Given the description of an element on the screen output the (x, y) to click on. 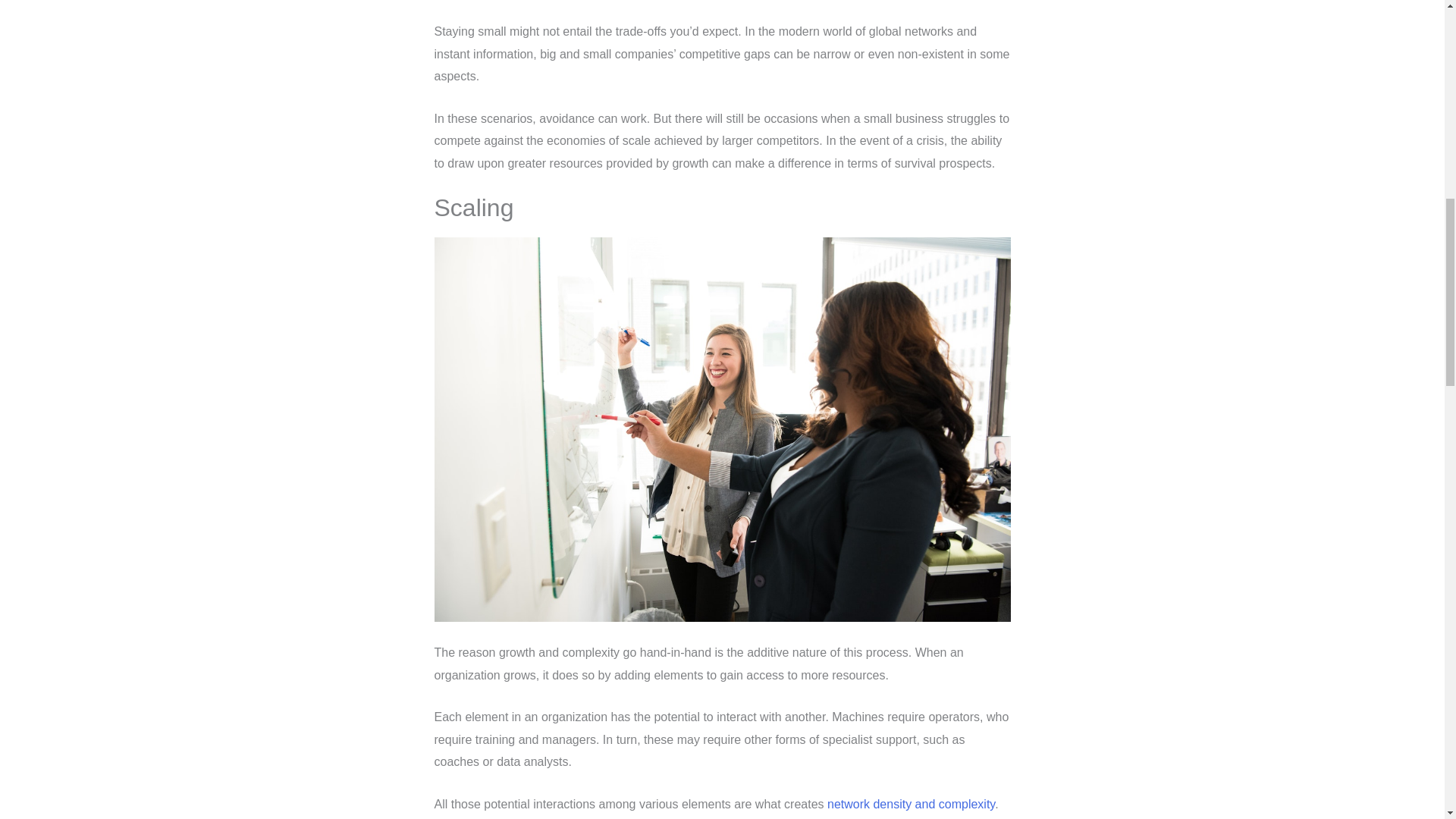
network density and complexity (910, 803)
